Given the description of an element on the screen output the (x, y) to click on. 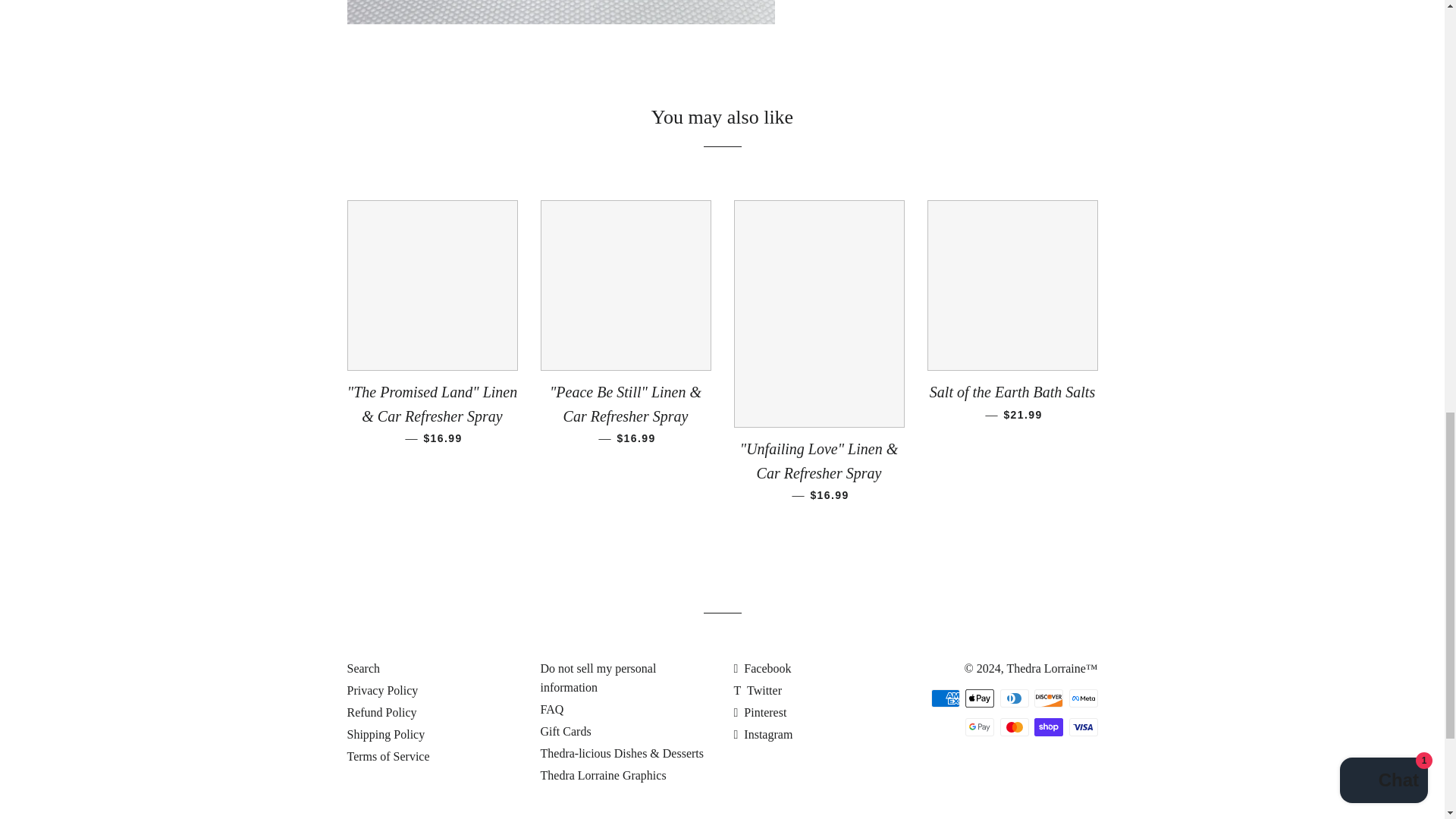
Meta Pay (1082, 698)
Visa (1082, 727)
Apple Pay (979, 698)
Mastercard (1012, 727)
Google Pay (979, 727)
Discover (1047, 698)
Shop Pay (1047, 727)
Diners Club (1012, 698)
American Express (945, 698)
